Given the description of an element on the screen output the (x, y) to click on. 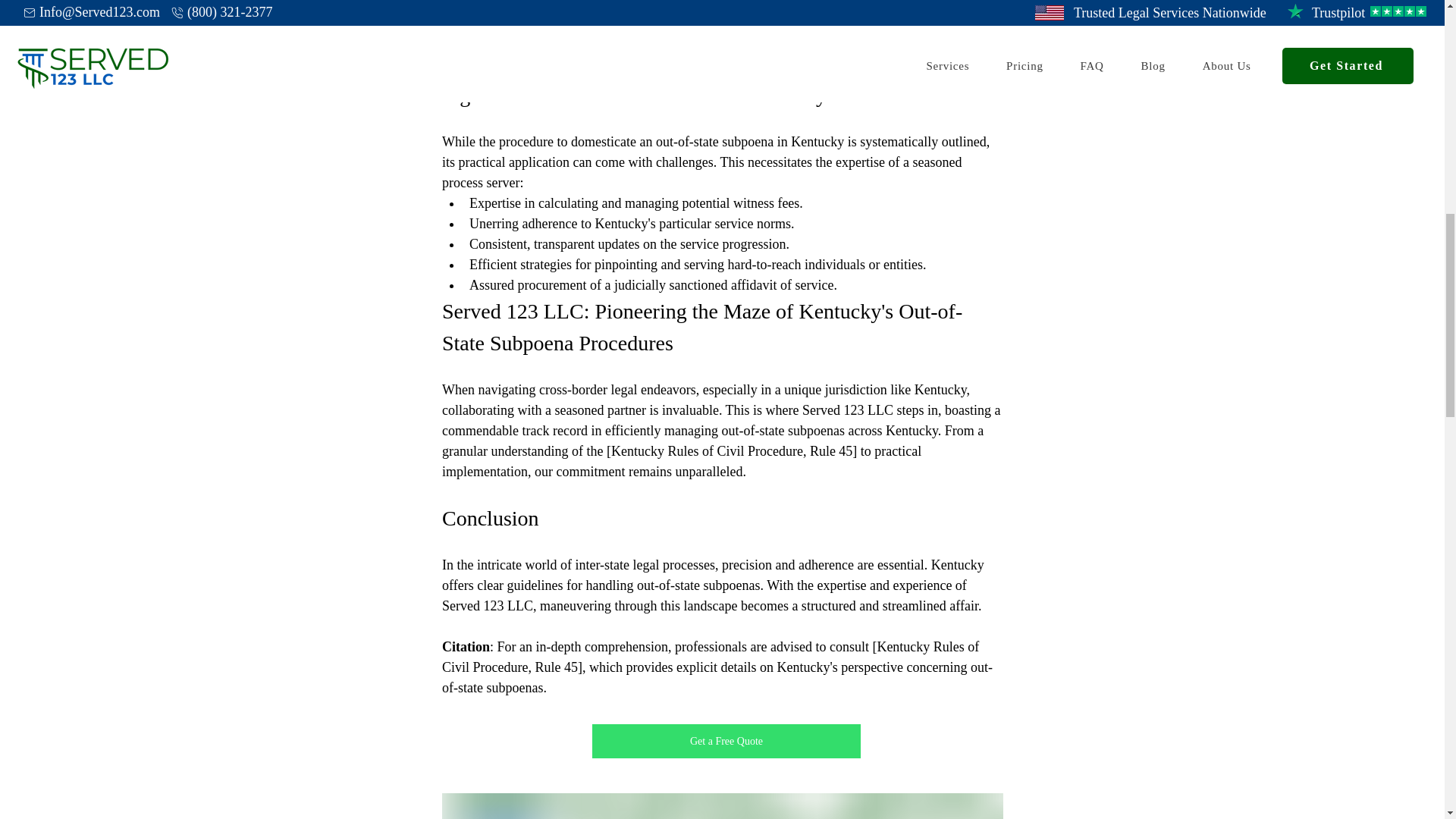
Get a Free Quote (725, 740)
